Given the description of an element on the screen output the (x, y) to click on. 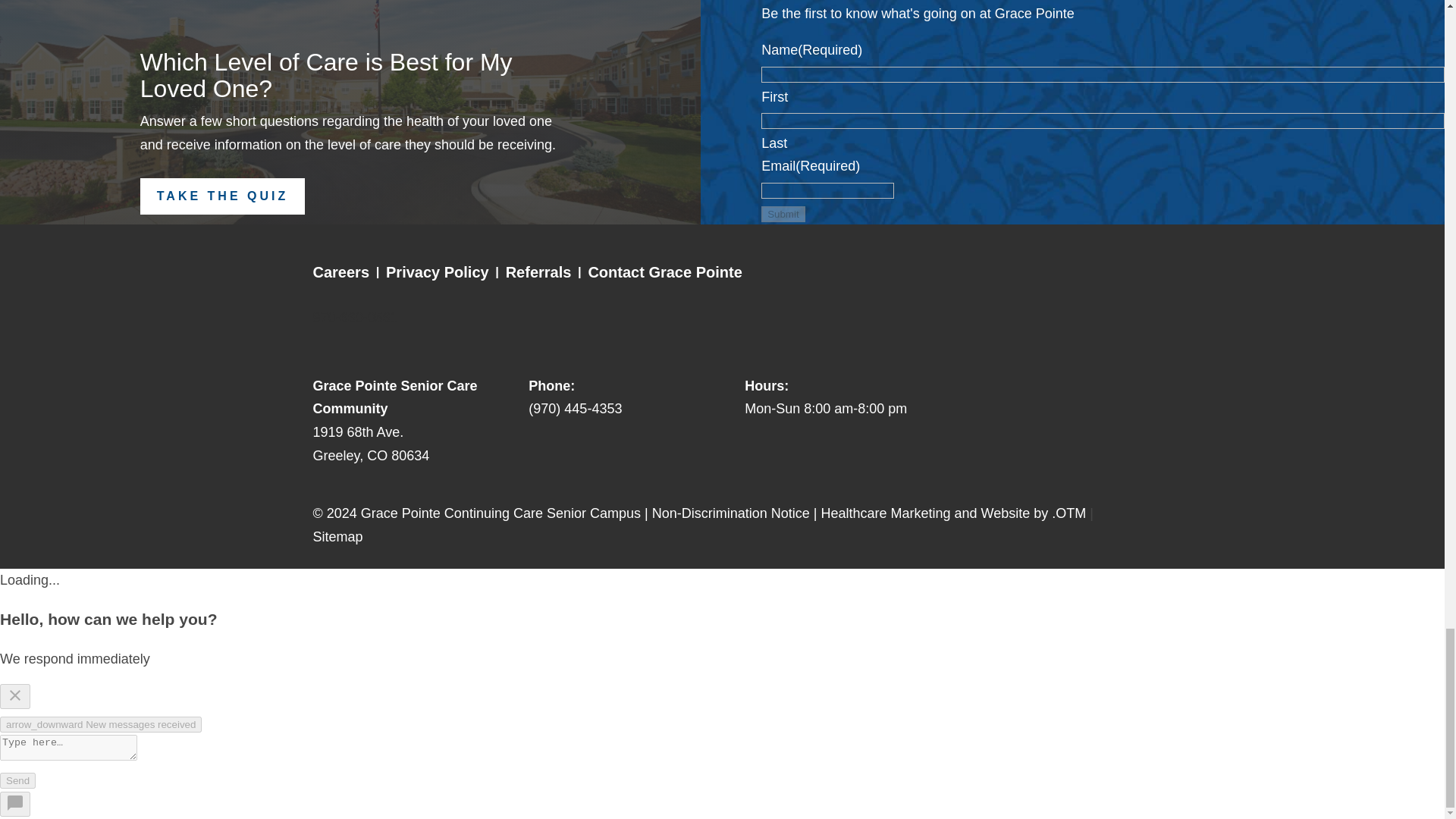
Submit (783, 213)
